Given the description of an element on the screen output the (x, y) to click on. 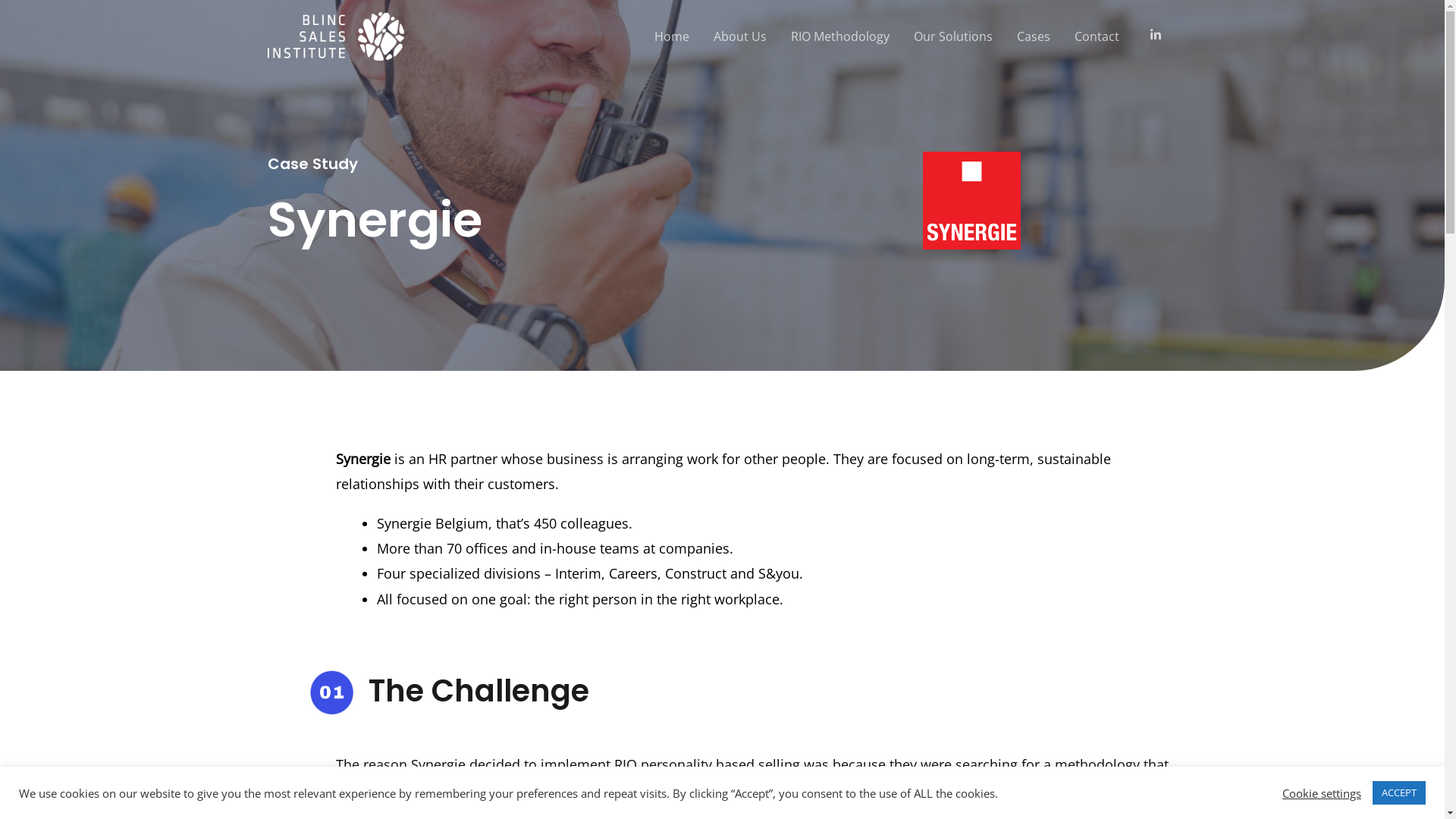
Cases Element type: text (1033, 36)
Our Solutions Element type: text (952, 36)
Home Element type: text (671, 36)
Contact Element type: text (1096, 36)
About Us Element type: text (739, 36)
ACCEPT Element type: text (1398, 792)
Cookie settings Element type: text (1321, 792)
RIO Methodology Element type: text (839, 36)
